Given the description of an element on the screen output the (x, y) to click on. 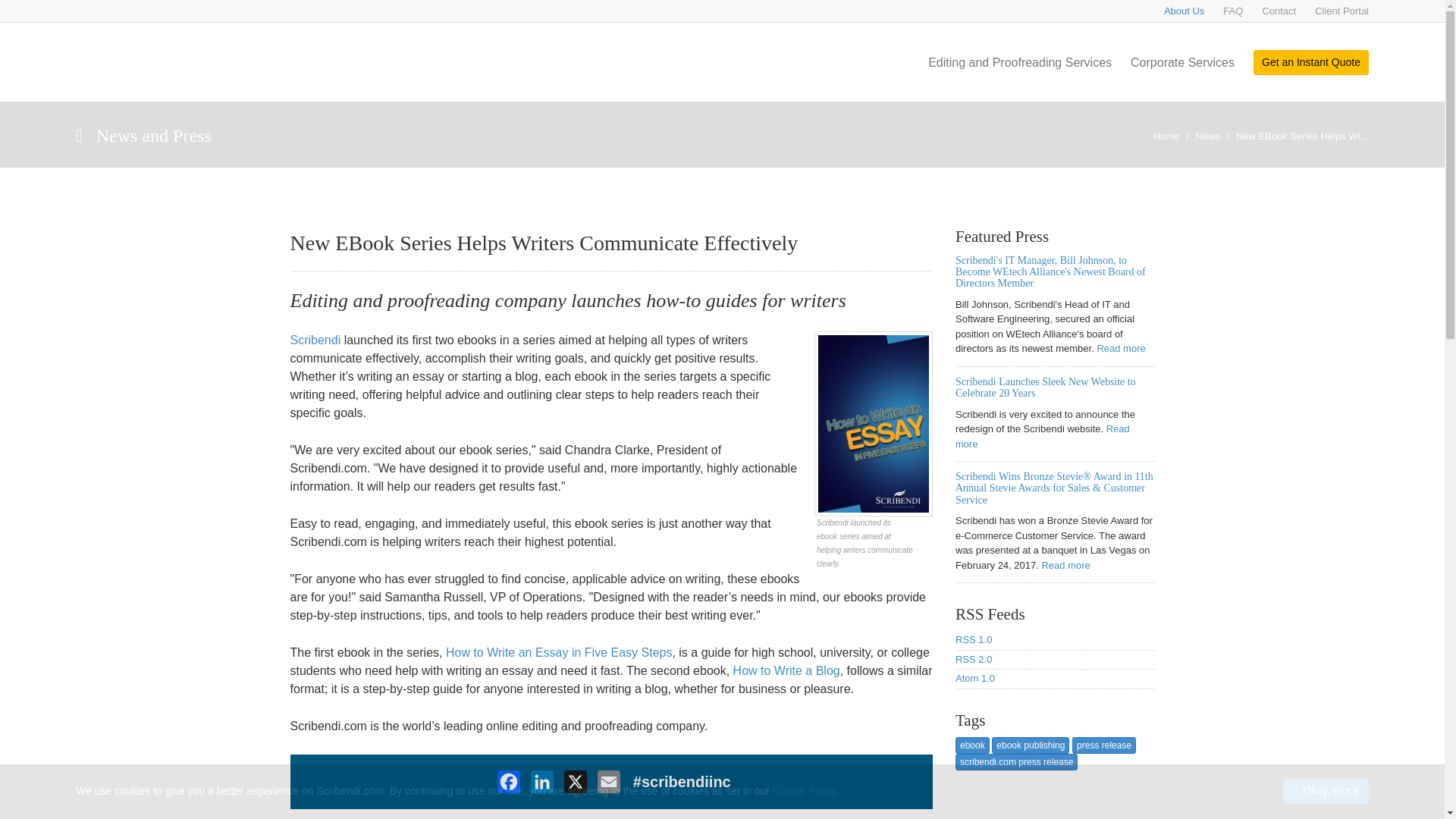
Contact Us (1278, 10)
About Us (1183, 10)
FAQ (1233, 10)
Client Portal (1341, 10)
Contact (1278, 10)
Frequently Asked Questions (1233, 10)
Cookie Policy. (806, 790)
Client Portal (1341, 10)
Editing and Proofreading Services (1020, 75)
 Okay, Got It (1325, 791)
